Given the description of an element on the screen output the (x, y) to click on. 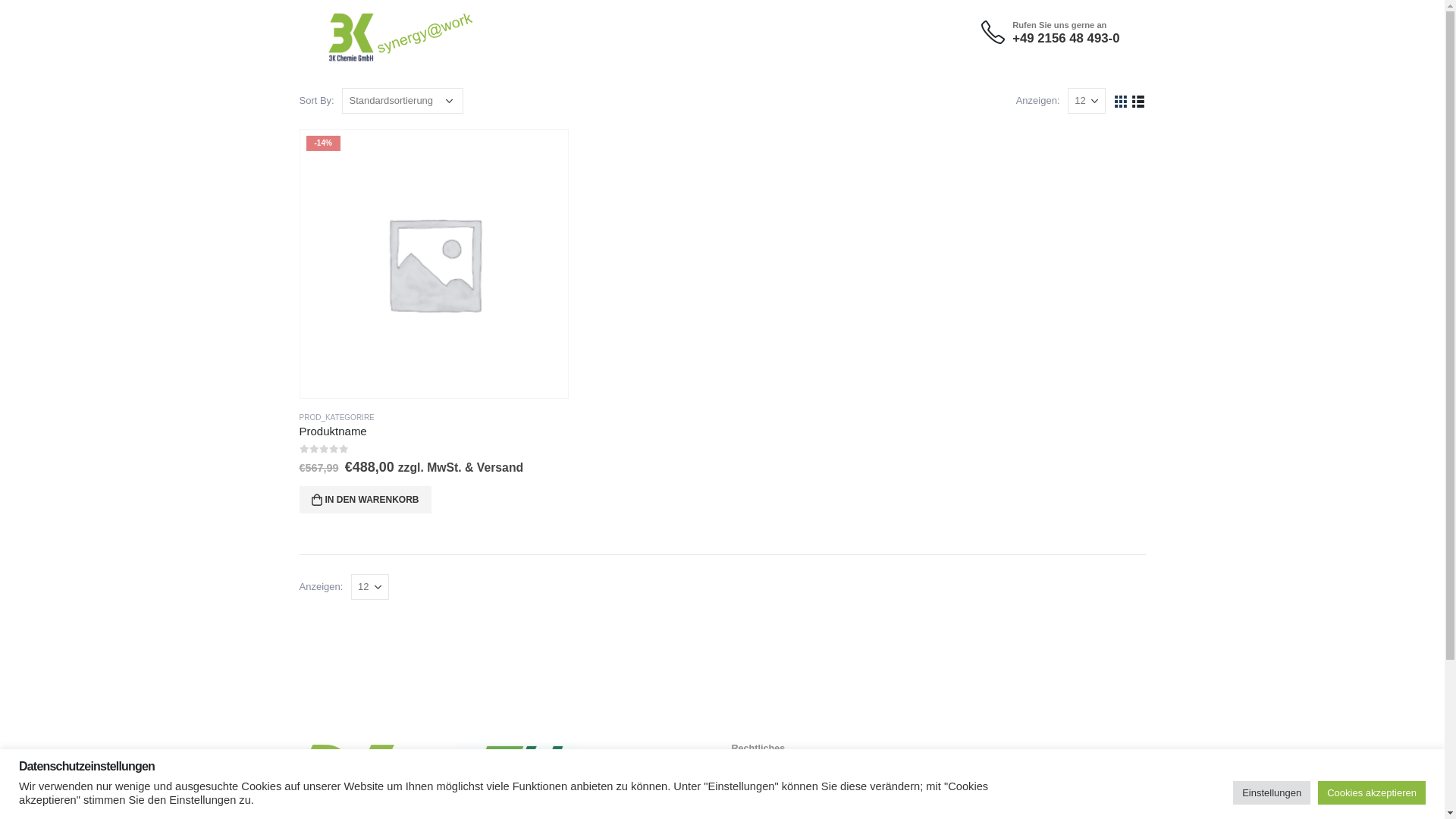
+49 2156 48 493-0 Element type: text (1065, 38)
3K Chemie GmbH - Kompetenz in Klebstoff & Tapes Element type: hover (371, 24)
Einstellungen Element type: text (1271, 792)
Produktname Element type: text (433, 431)
IN DEN WARENKORB Element type: text (364, 499)
Cookies akzeptieren Element type: text (1371, 792)
AGB Element type: text (742, 811)
PROD_KATEGORIRE Element type: text (335, 417)
Grid View Element type: hover (1120, 100)
-14% Element type: text (434, 263)
List View Element type: hover (1137, 100)
